Given the description of an element on the screen output the (x, y) to click on. 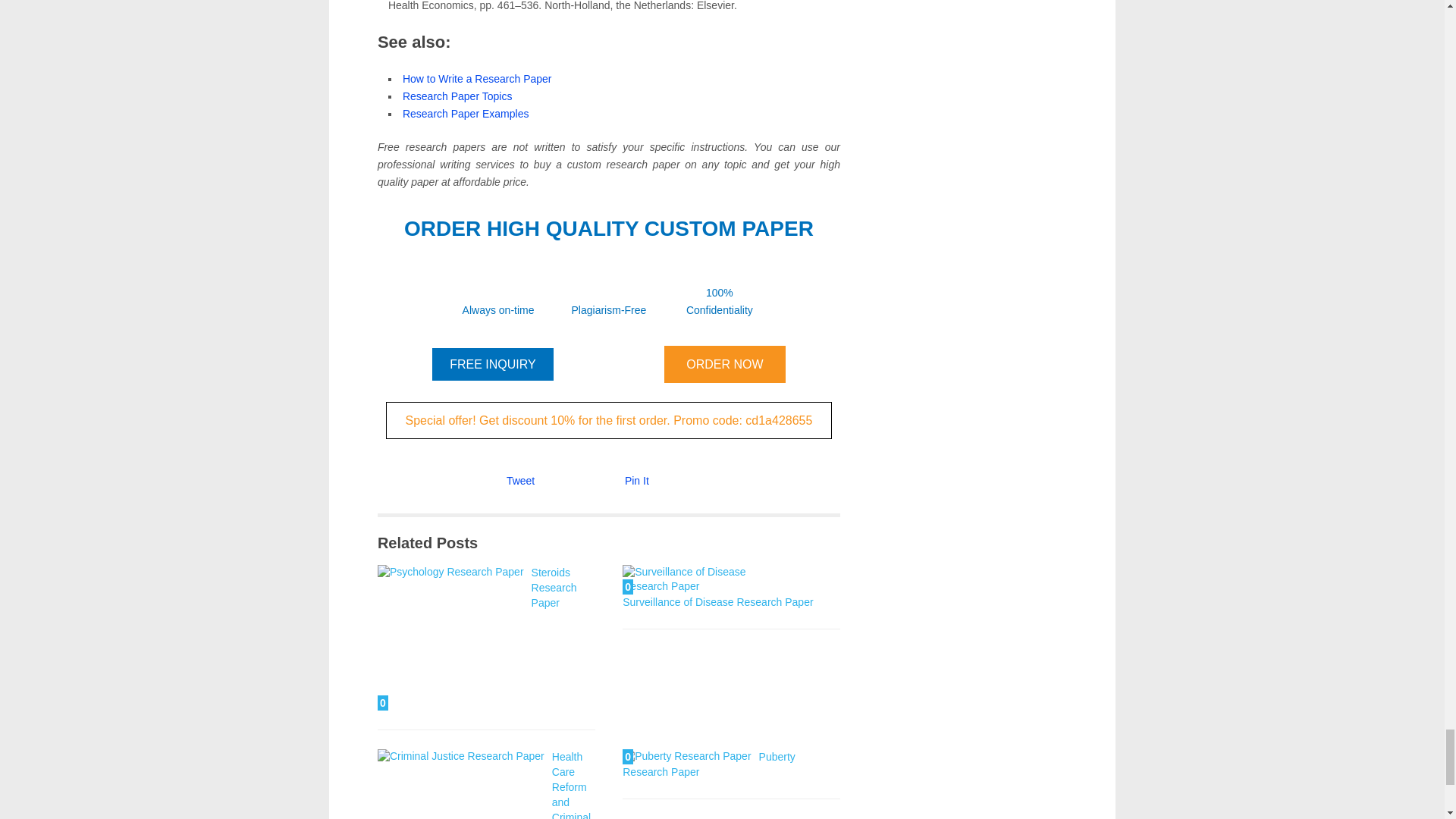
Steroids Research Paper (450, 638)
Research Paper Topics (457, 95)
Steroids Research Paper (553, 587)
Surveillance of Disease Research Paper (717, 602)
Puberty Research Paper (708, 764)
Health Care Reform and Criminal Offenders Research Paper (484, 785)
0 (706, 579)
FREE INQUIRY (492, 364)
Surveillance of Disease Research Paper (706, 579)
Health Care Reform and Criminal Offenders Research Paper (460, 784)
